Given the description of an element on the screen output the (x, y) to click on. 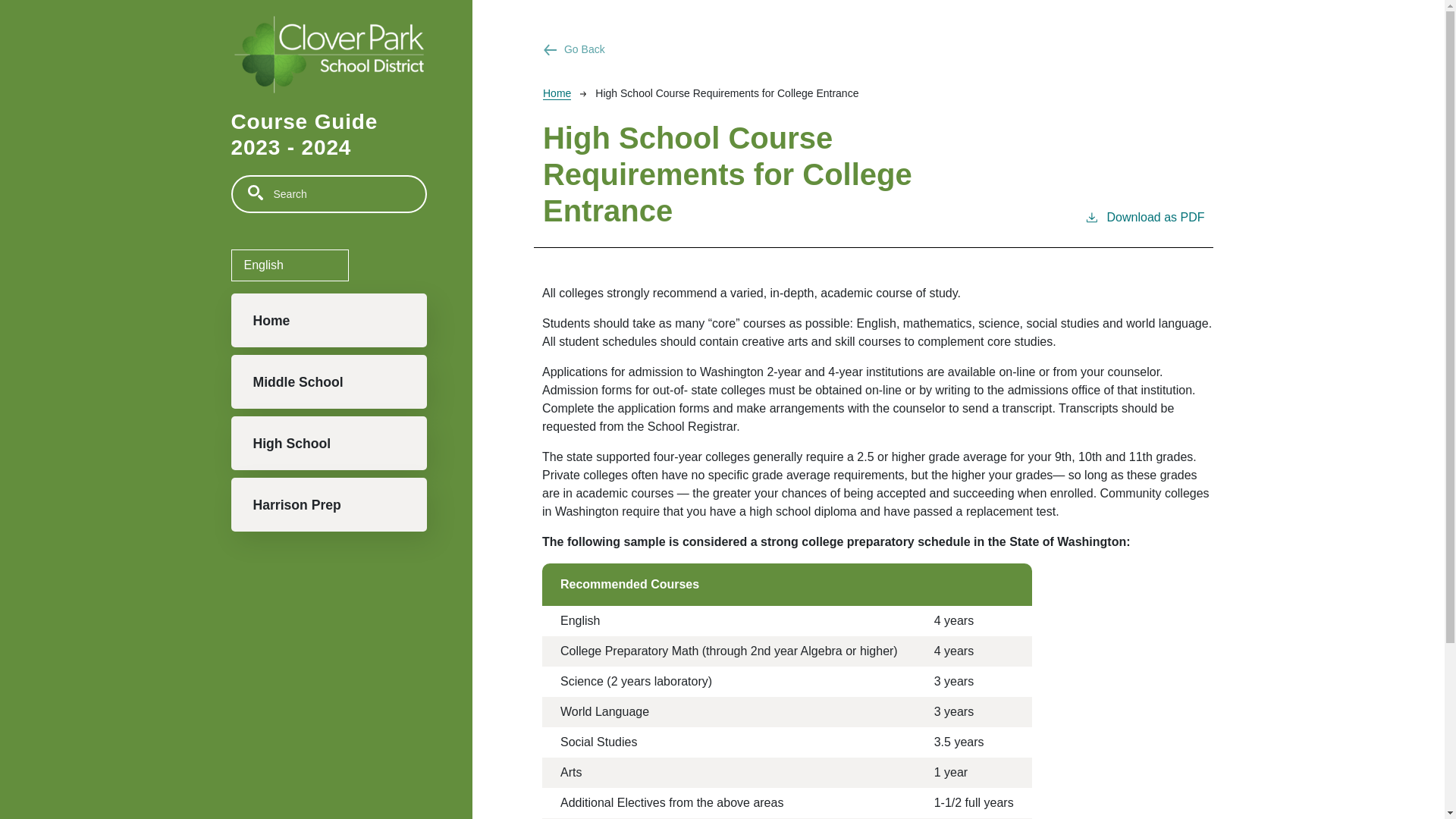
Search (254, 192)
Search (254, 192)
Home (556, 92)
Home (328, 320)
Go Back (874, 49)
Download as PDF (1144, 227)
Middle School (328, 381)
High School (328, 443)
Harrison Prep (328, 504)
